Given the description of an element on the screen output the (x, y) to click on. 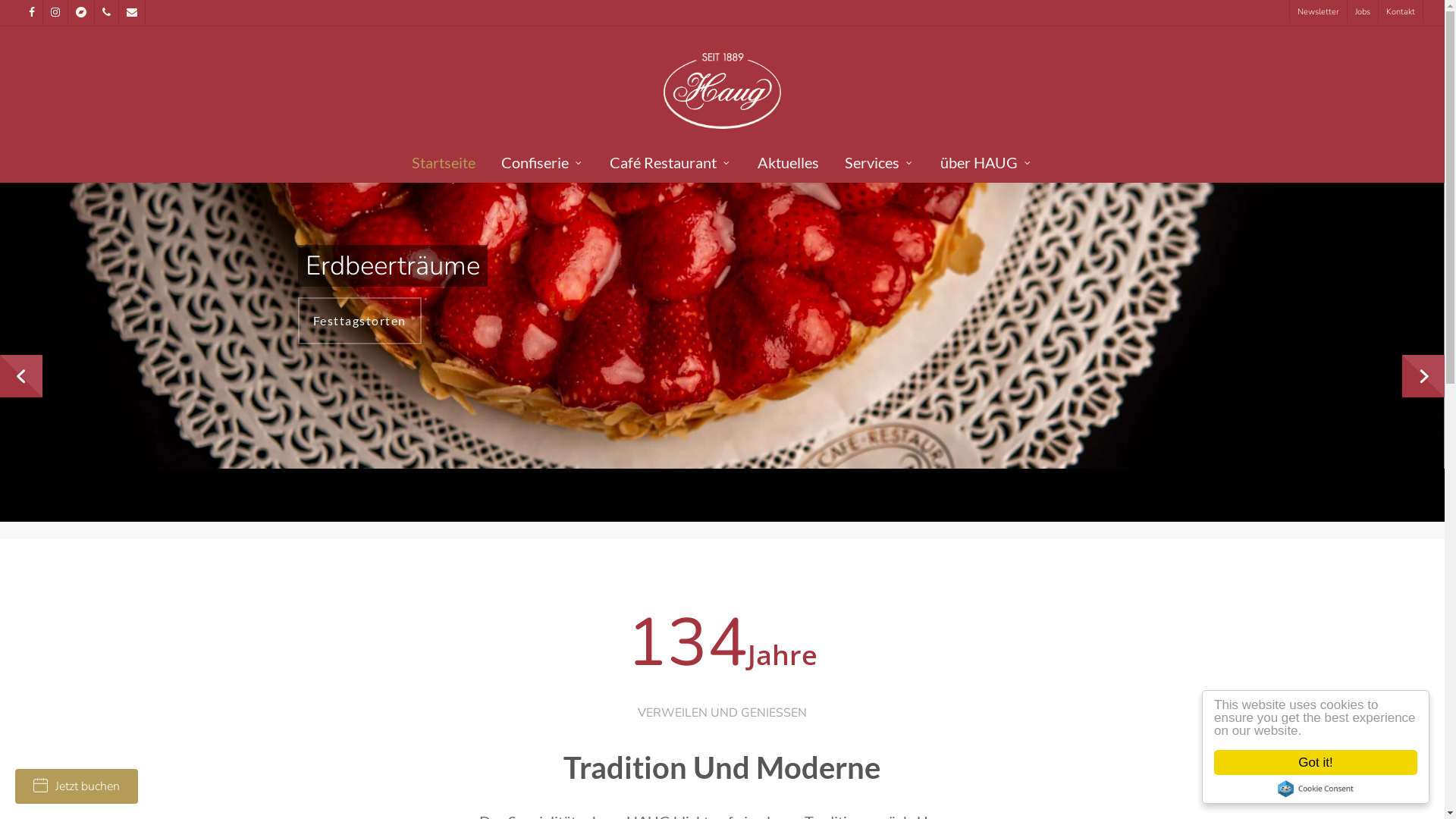
phone Element type: text (106, 12)
Got it! Element type: text (1315, 762)
Startseite Element type: text (443, 169)
email Element type: text (131, 12)
Cookie Consent plugin for the EU cookie law Element type: text (1315, 788)
Jobs Element type: text (1361, 11)
Newsletter Element type: text (1317, 11)
Kontakt Element type: text (1399, 11)
Confiserie Element type: text (542, 169)
Aktuelles Element type: text (787, 169)
instagram Element type: text (54, 12)
bandcamp Element type: text (80, 12)
Services Element type: text (879, 169)
Jetzt buchen Element type: text (76, 785)
facebook Element type: text (31, 12)
